Given the description of an element on the screen output the (x, y) to click on. 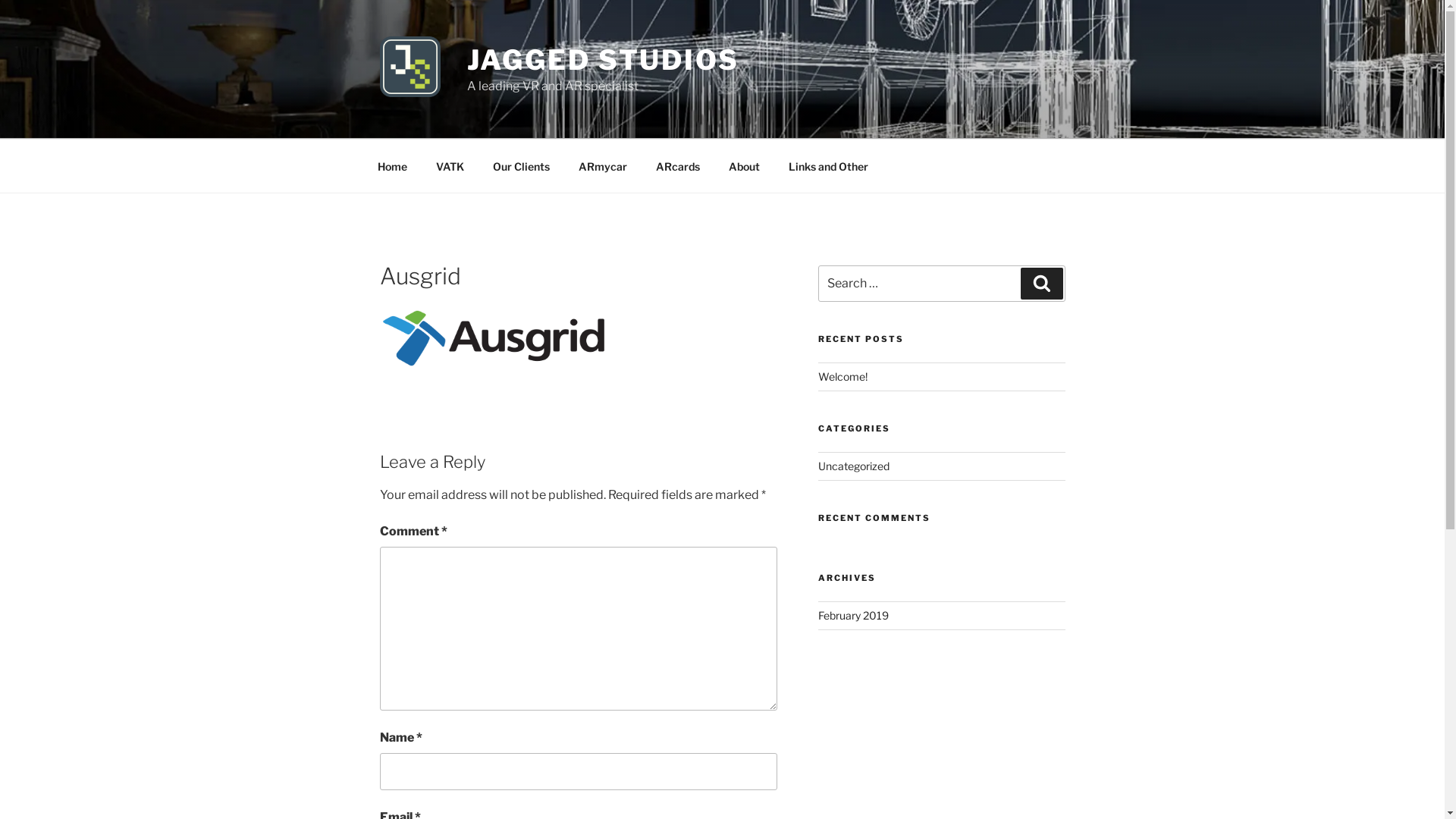
Our Clients Element type: text (520, 165)
VATK Element type: text (450, 165)
JAGGED STUDIOS Element type: text (603, 59)
ARcards Element type: text (678, 165)
Home Element type: text (392, 165)
Welcome! Element type: text (842, 376)
ARmycar Element type: text (602, 165)
Links and Other Element type: text (828, 165)
February 2019 Element type: text (853, 614)
Search Element type: text (1041, 283)
Uncategorized Element type: text (853, 465)
About Element type: text (744, 165)
